Given the description of an element on the screen output the (x, y) to click on. 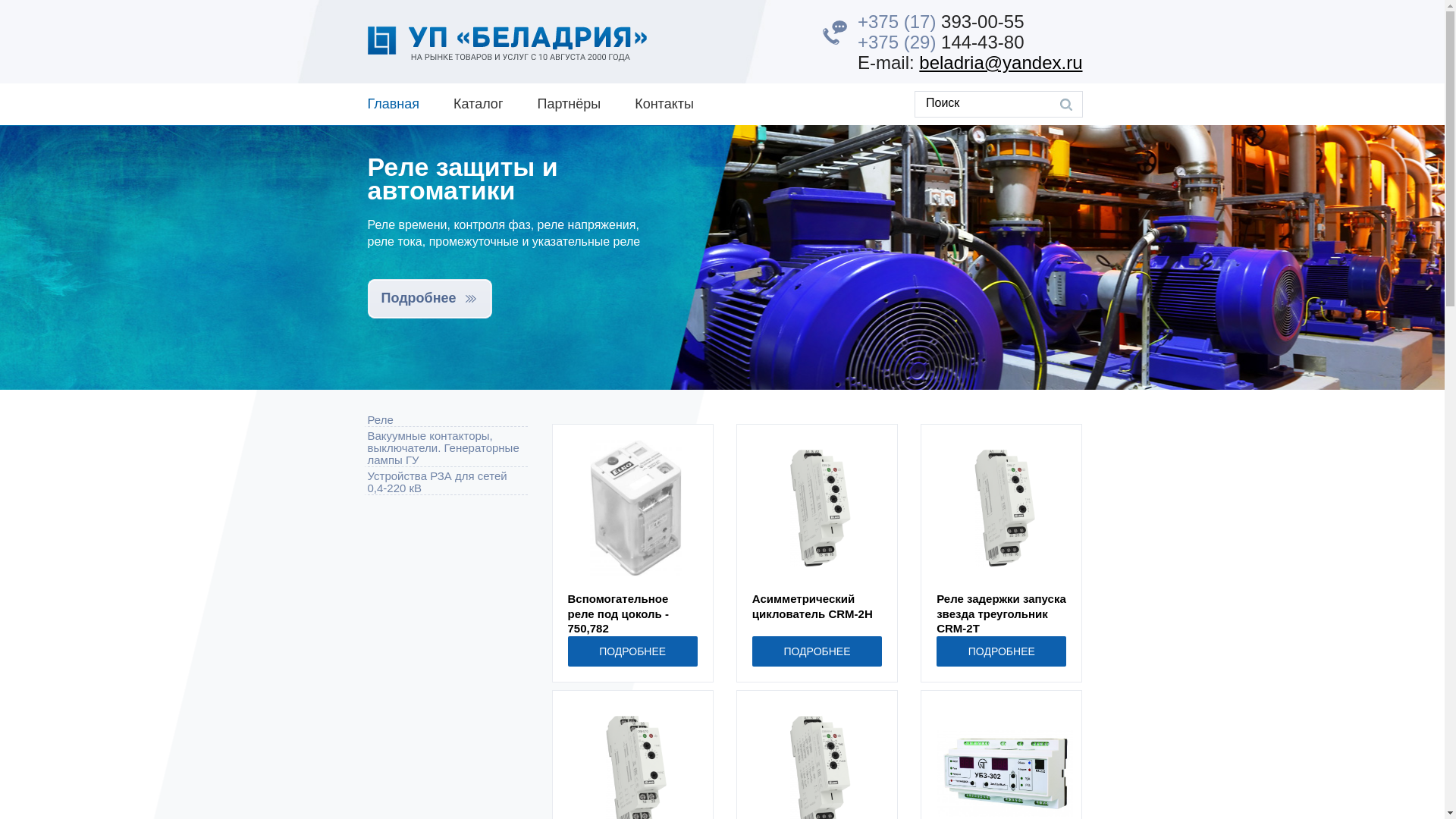
beladria@yandex.ru Element type: text (1000, 62)
